Given the description of an element on the screen output the (x, y) to click on. 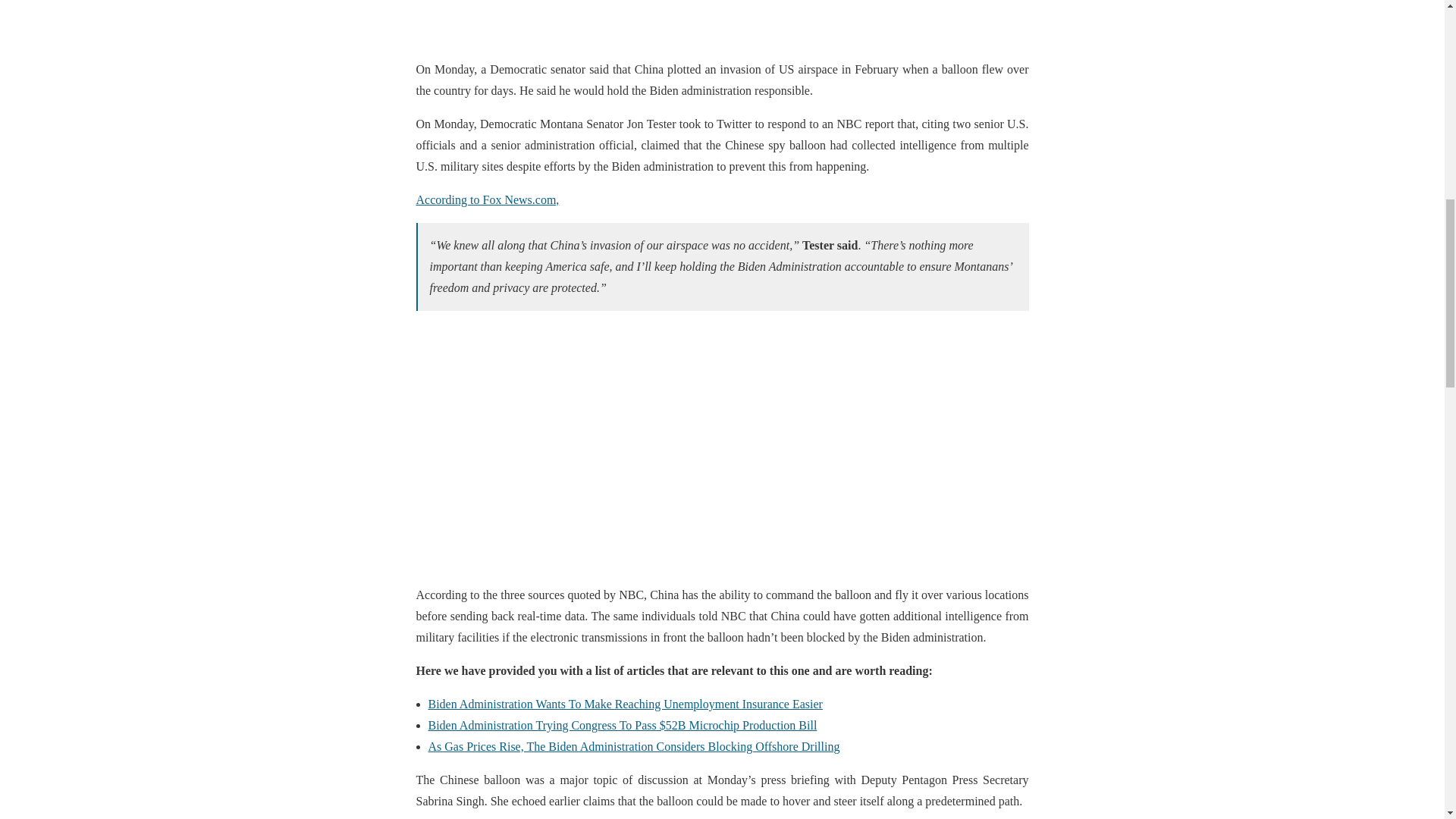
According to Fox News.com, (486, 199)
